Given the description of an element on the screen output the (x, y) to click on. 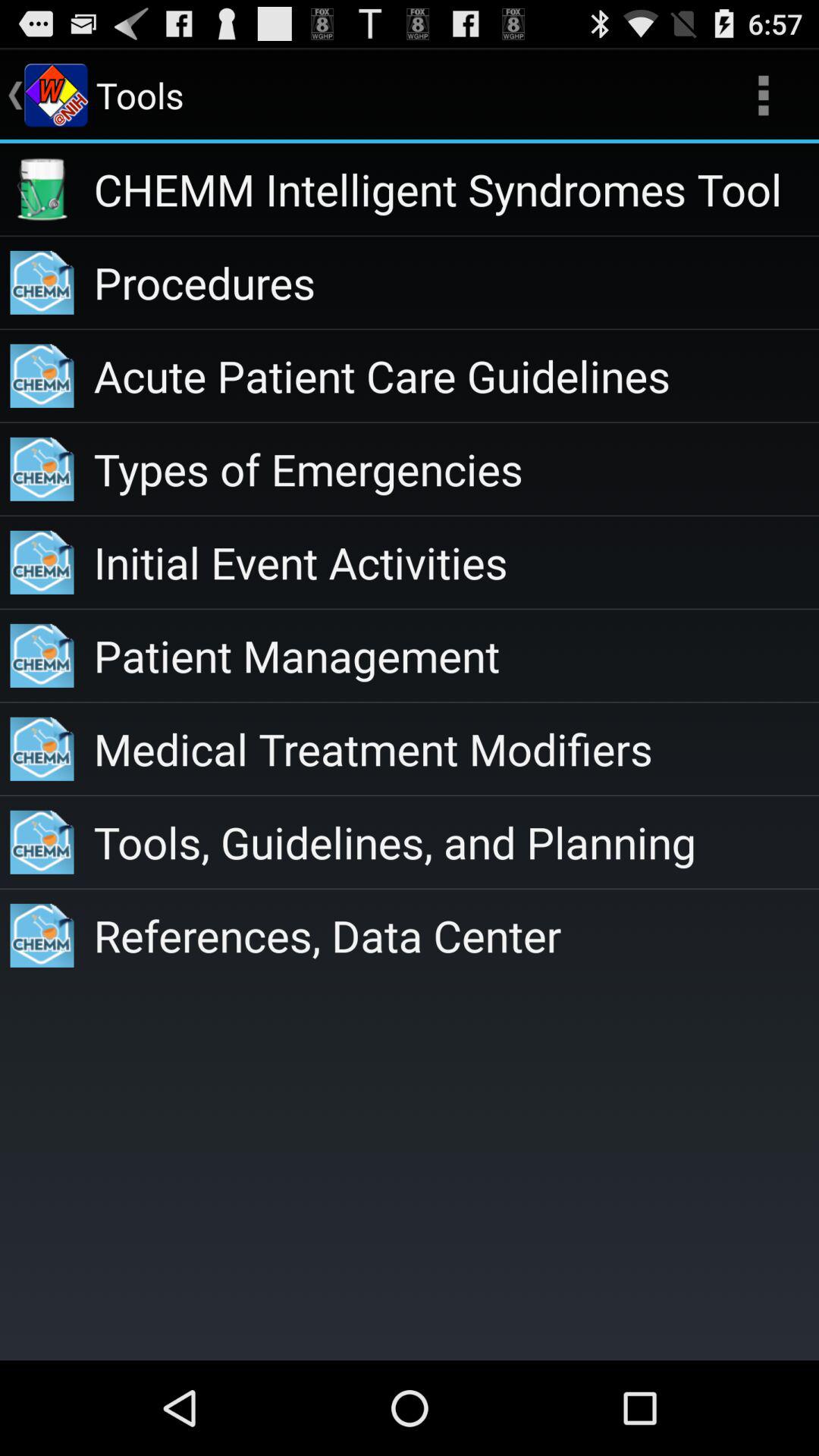
tap references, data center item (456, 935)
